Given the description of an element on the screen output the (x, y) to click on. 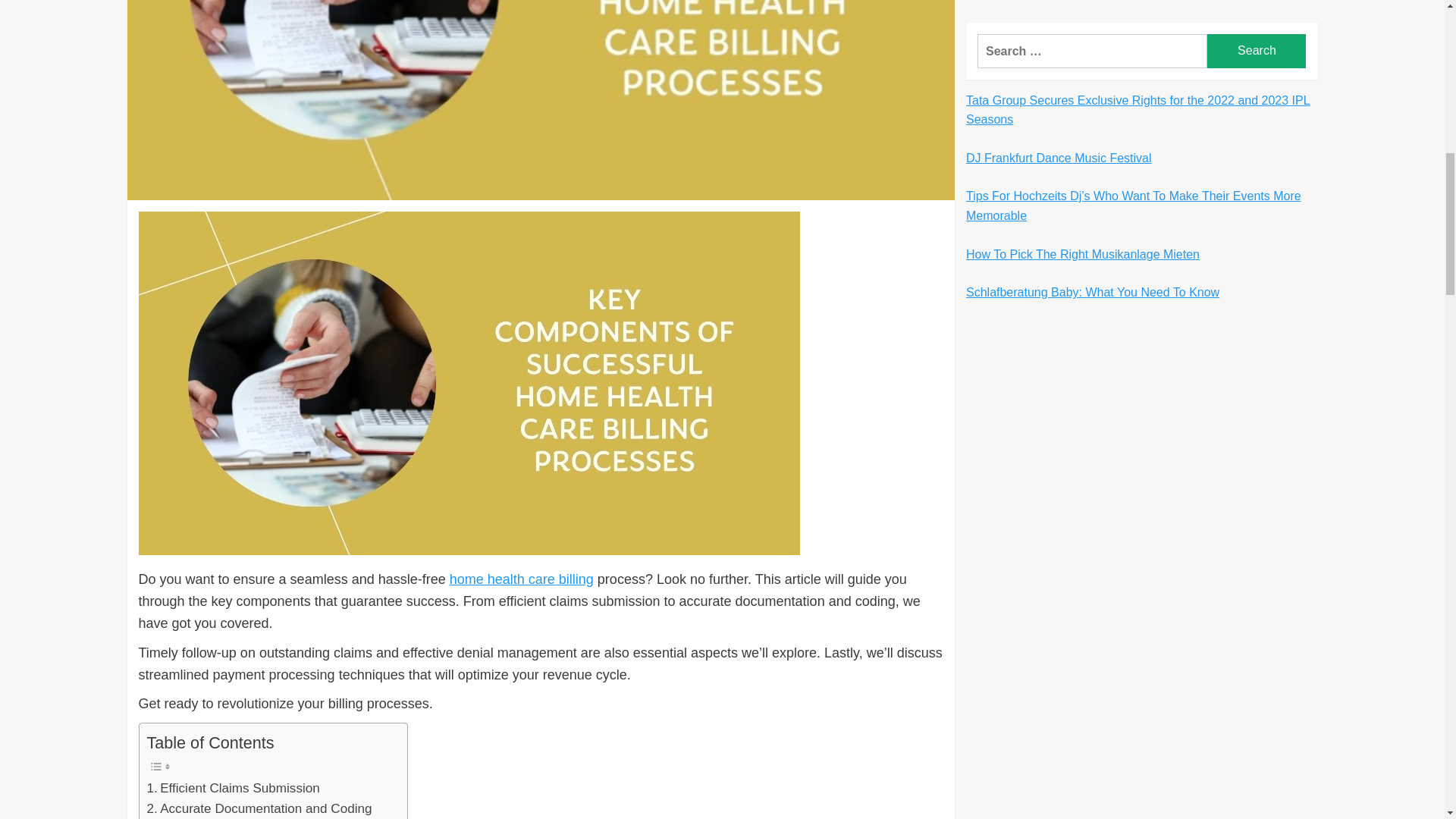
Efficient Claims Submission (233, 788)
Accurate Documentation and Coding (259, 808)
home health care billing (521, 579)
Efficient Claims Submission (233, 788)
Accurate Documentation and Coding (259, 808)
